Given the description of an element on the screen output the (x, y) to click on. 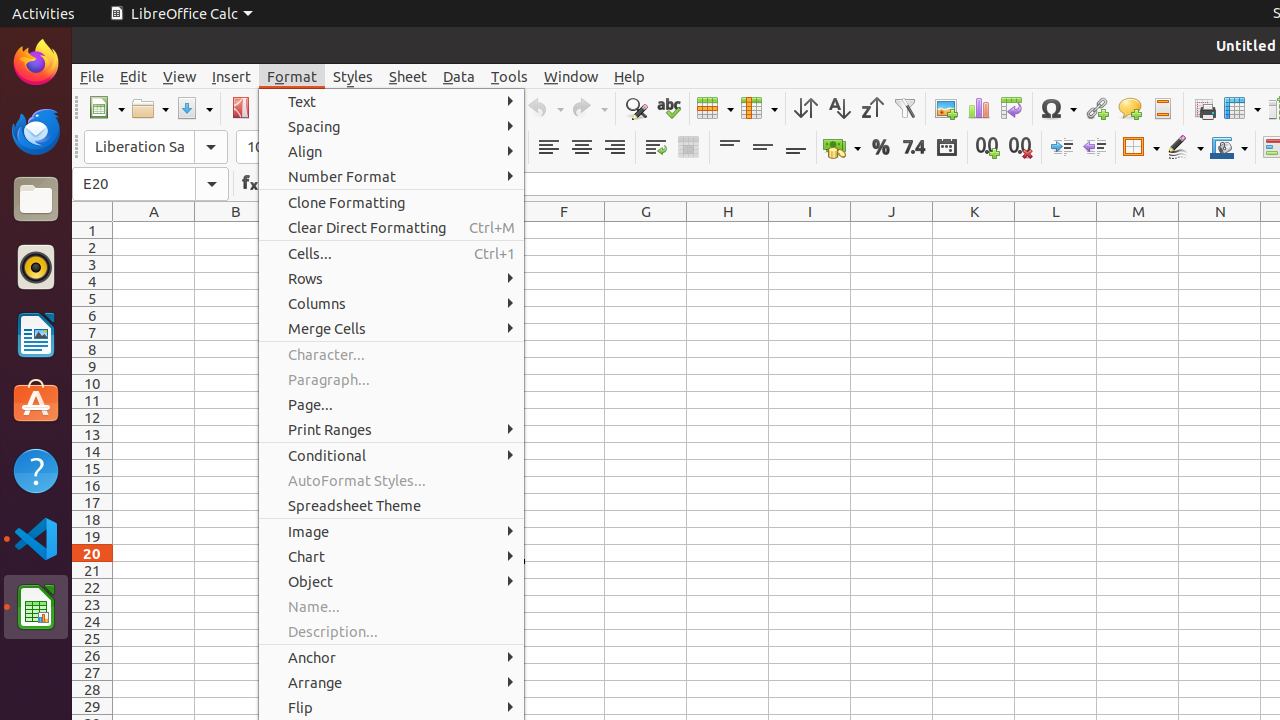
Page... Element type: menu-item (391, 404)
